Given the description of an element on the screen output the (x, y) to click on. 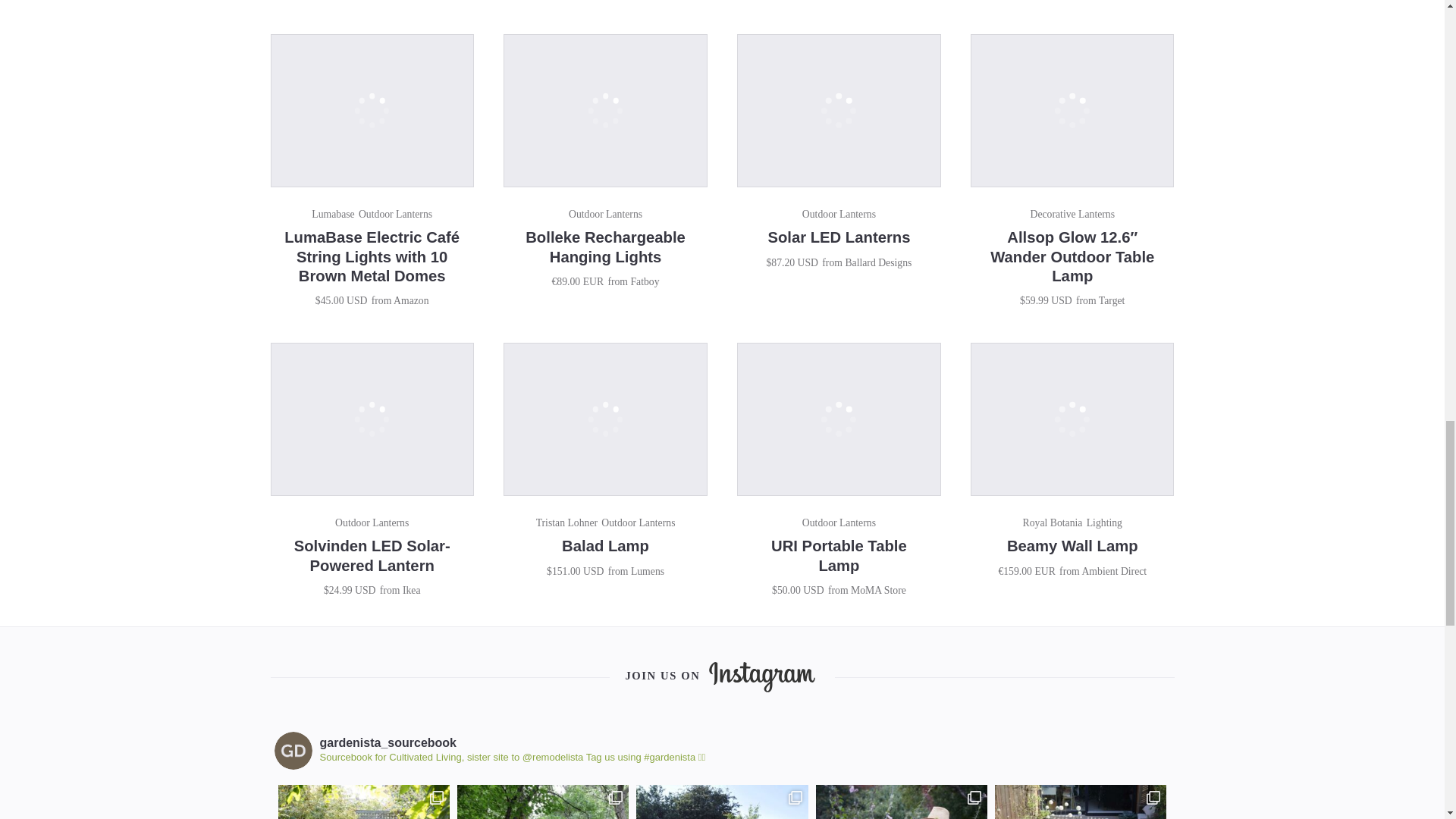
US Dollar (593, 571)
US Dollar (813, 590)
US Dollar (807, 262)
US Dollar (356, 300)
Euro (593, 281)
US Dollar (1061, 300)
Euro (1043, 571)
US Dollar (365, 590)
